Given the description of an element on the screen output the (x, y) to click on. 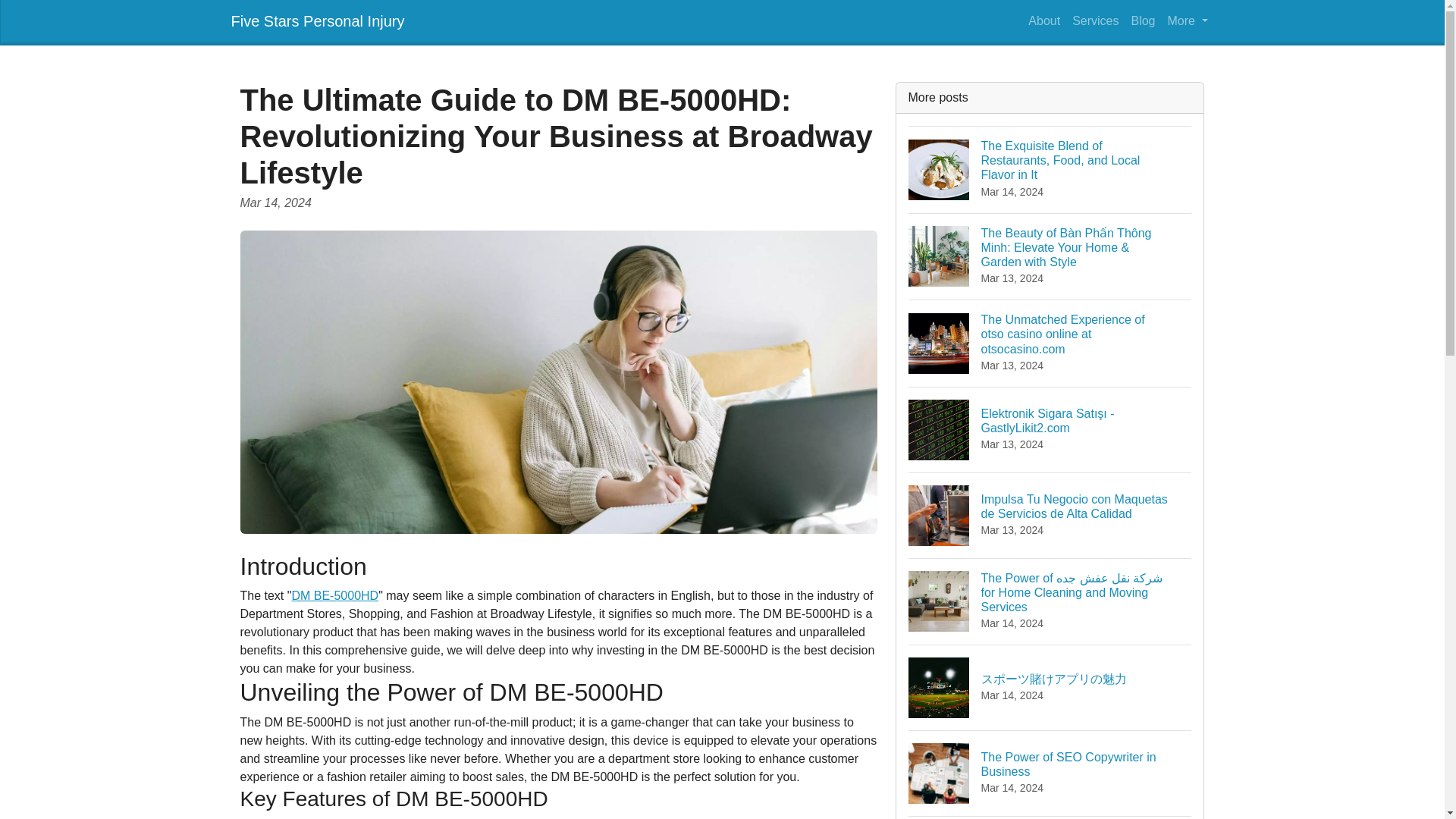
Five Stars Personal Injury (317, 20)
About (1043, 20)
DM BE-5000HD (1050, 772)
More (334, 594)
Services (1187, 20)
Blog (1094, 20)
